Given the description of an element on the screen output the (x, y) to click on. 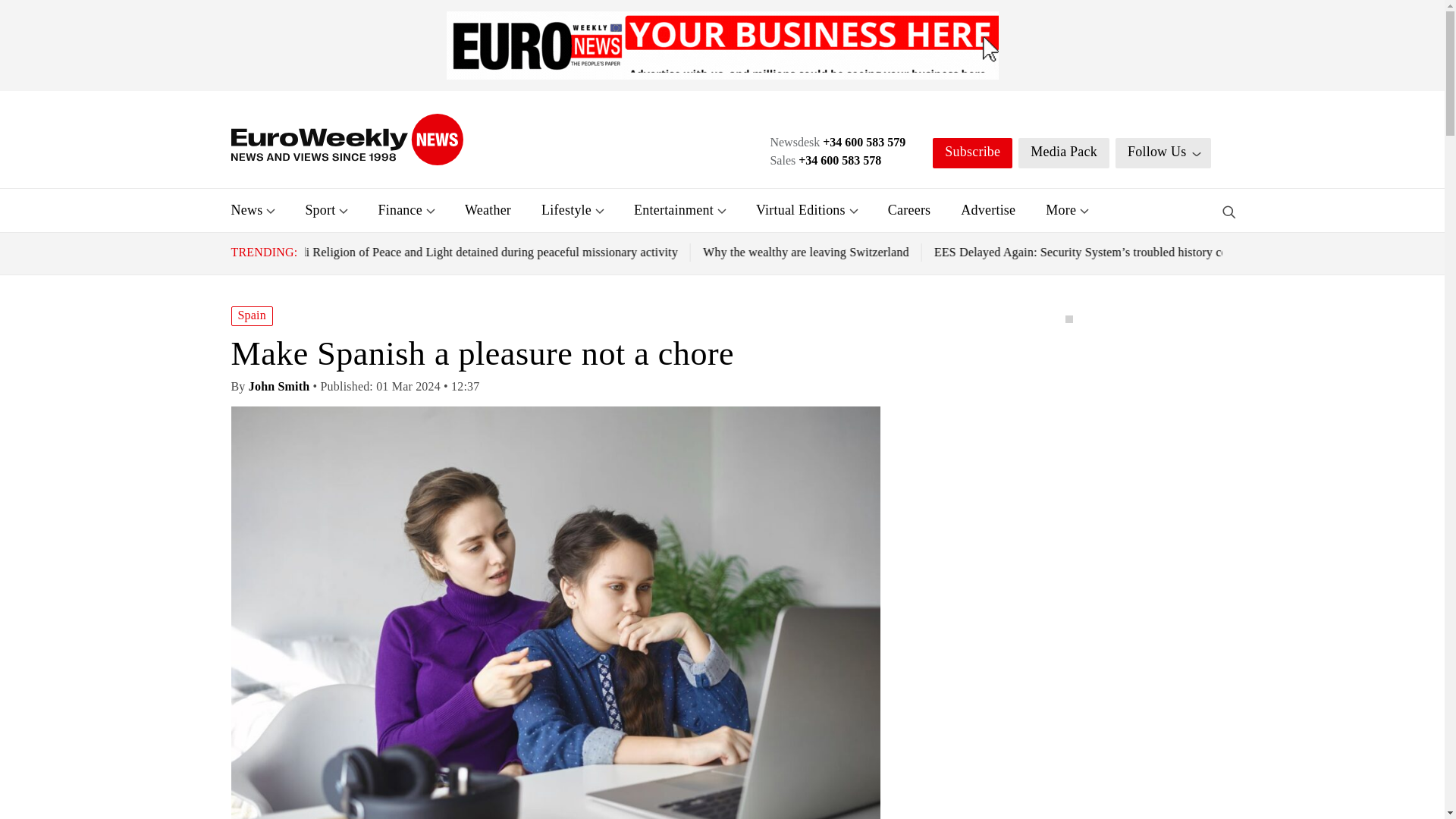
Media Pack (1063, 153)
Follow Us (1163, 153)
Subscribe (972, 153)
News (246, 209)
